Given the description of an element on the screen output the (x, y) to click on. 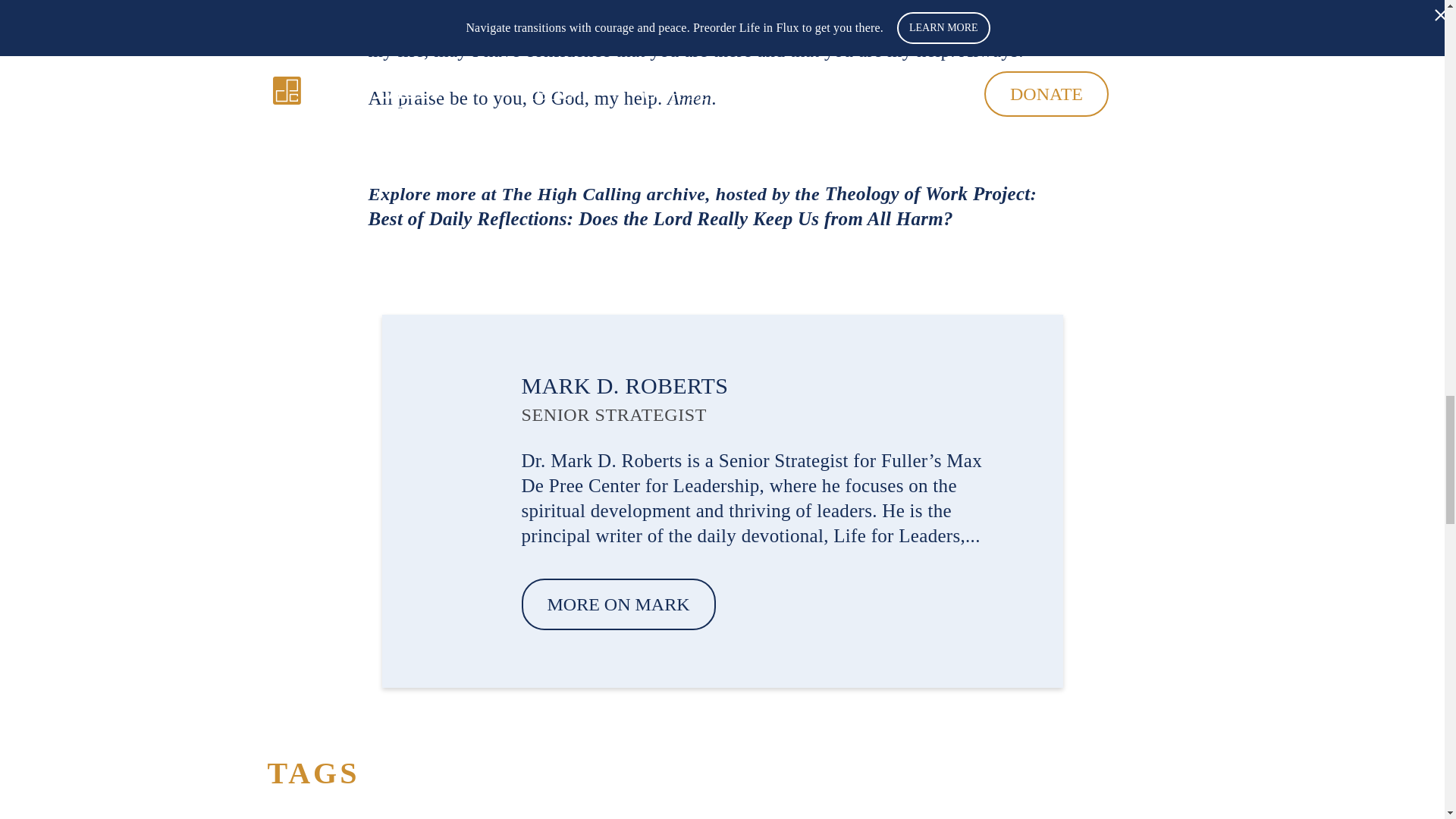
MORE ON MARK (618, 603)
Theology of Work Project (927, 193)
